Given the description of an element on the screen output the (x, y) to click on. 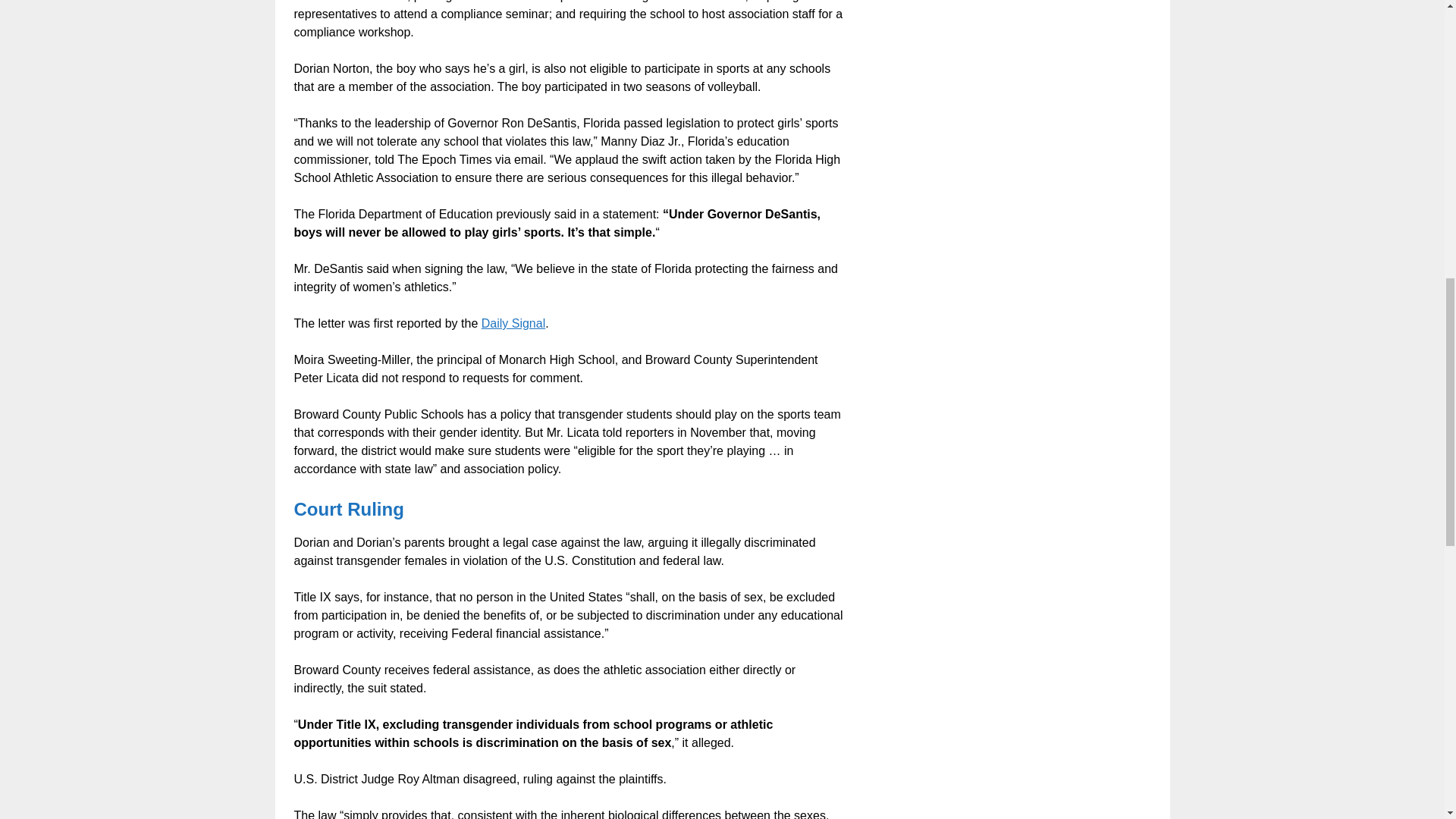
Daily Signal (512, 323)
